Given the description of an element on the screen output the (x, y) to click on. 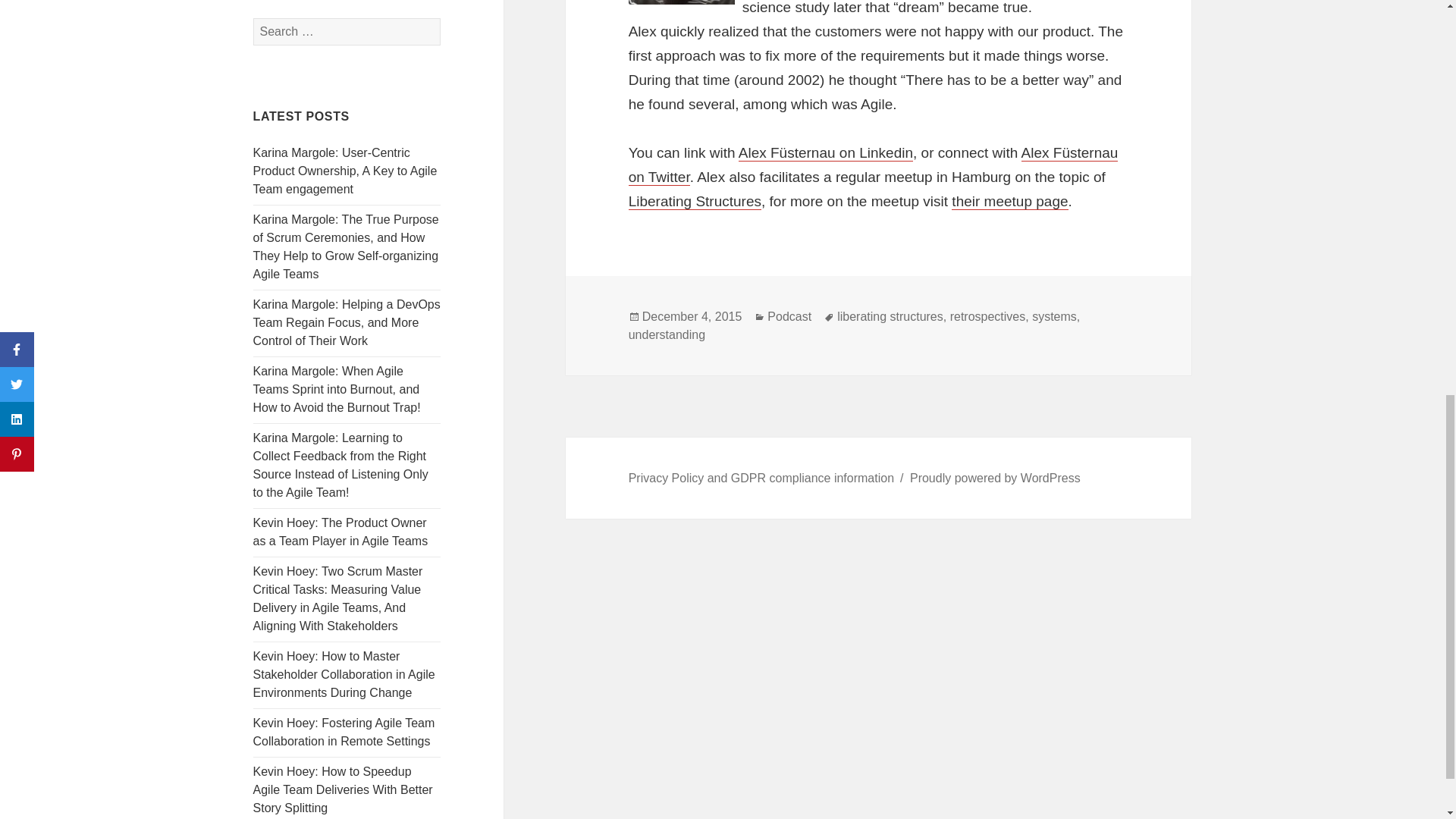
December 4, 2015 (692, 316)
Proudly powered by WordPress (995, 478)
Podcast (788, 316)
Liberating Structures (694, 201)
understanding (666, 335)
Privacy Policy and GDPR compliance information (760, 478)
liberating structures (890, 316)
retrospectives (988, 316)
